Given the description of an element on the screen output the (x, y) to click on. 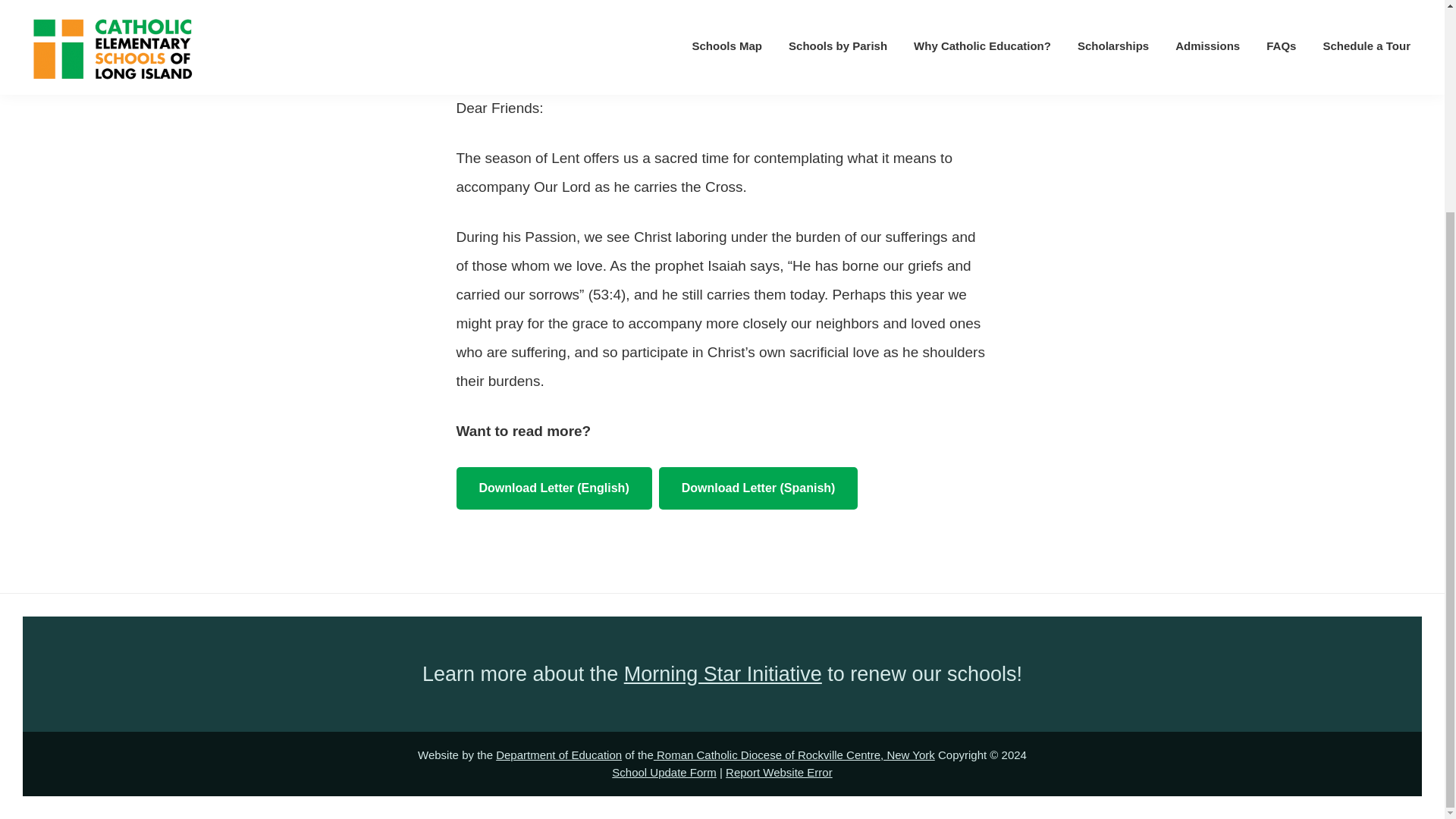
Catholic Elementary Schools of Long Island (692, 31)
Department of Education (558, 754)
Roman Catholic Diocese of Rockville Centre, New York (793, 754)
Report Website Error (778, 771)
School Update Form (663, 771)
Morning Star Initiative (723, 673)
